Given the description of an element on the screen output the (x, y) to click on. 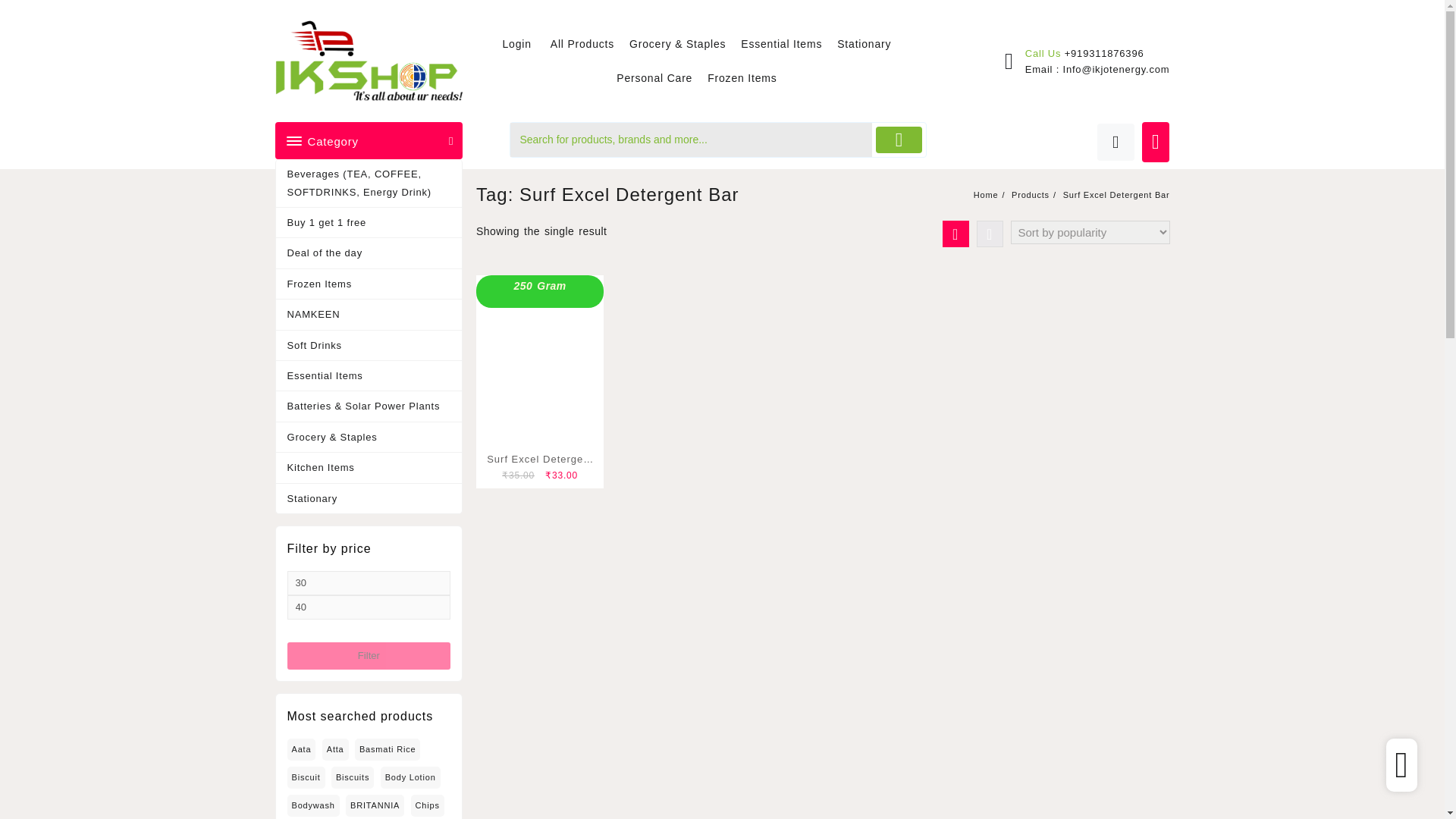
40 (367, 607)
30 (367, 582)
